Given the description of an element on the screen output the (x, y) to click on. 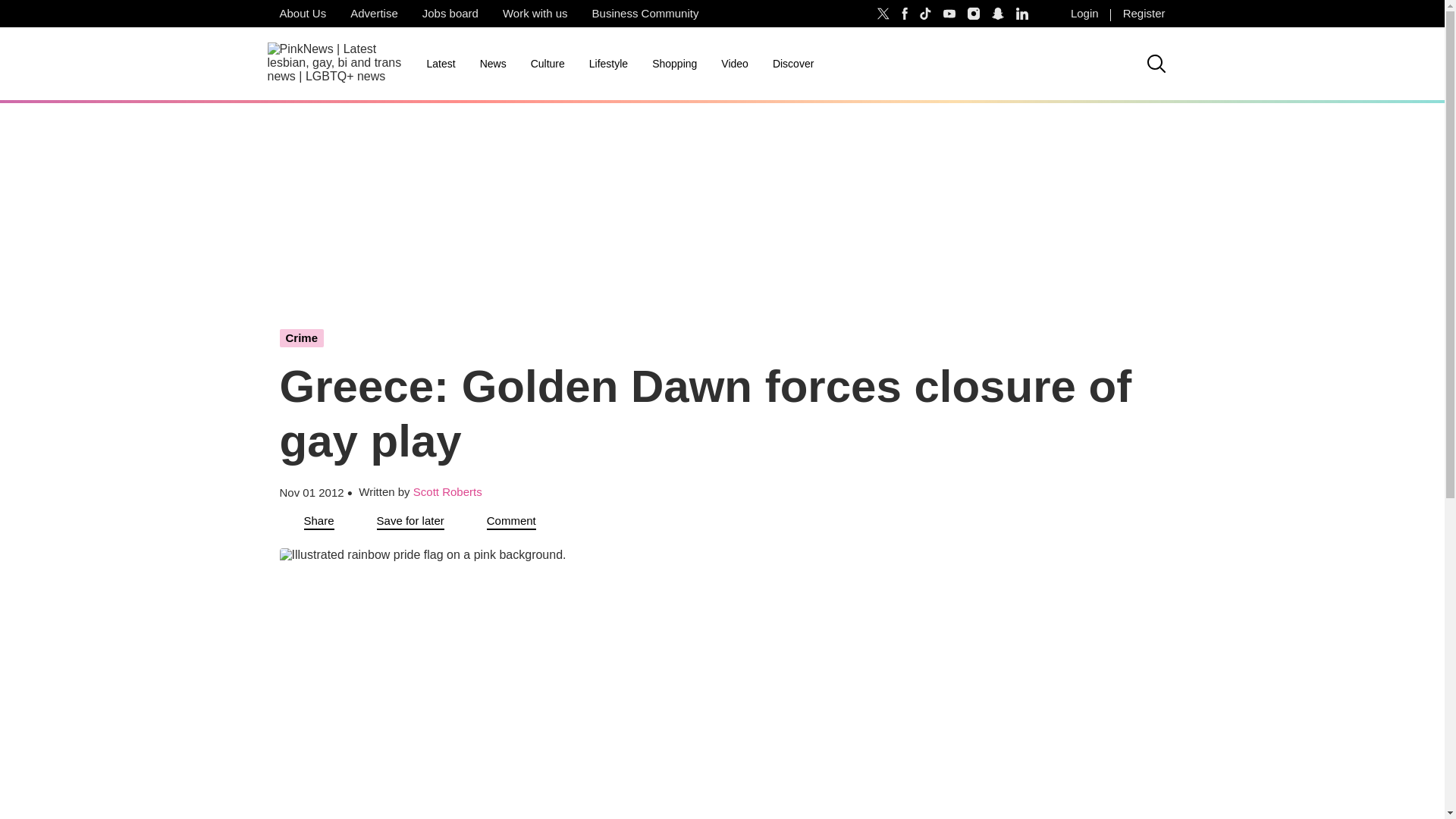
Work with us (534, 13)
Latest (440, 63)
Business Community (645, 13)
Login (1084, 13)
Culture (547, 63)
News (493, 63)
Register (1143, 13)
Follow PinkNews on LinkedIn (1021, 13)
Lifestyle (608, 63)
Jobs board (450, 13)
About Us (301, 13)
Advertise (373, 13)
